Given the description of an element on the screen output the (x, y) to click on. 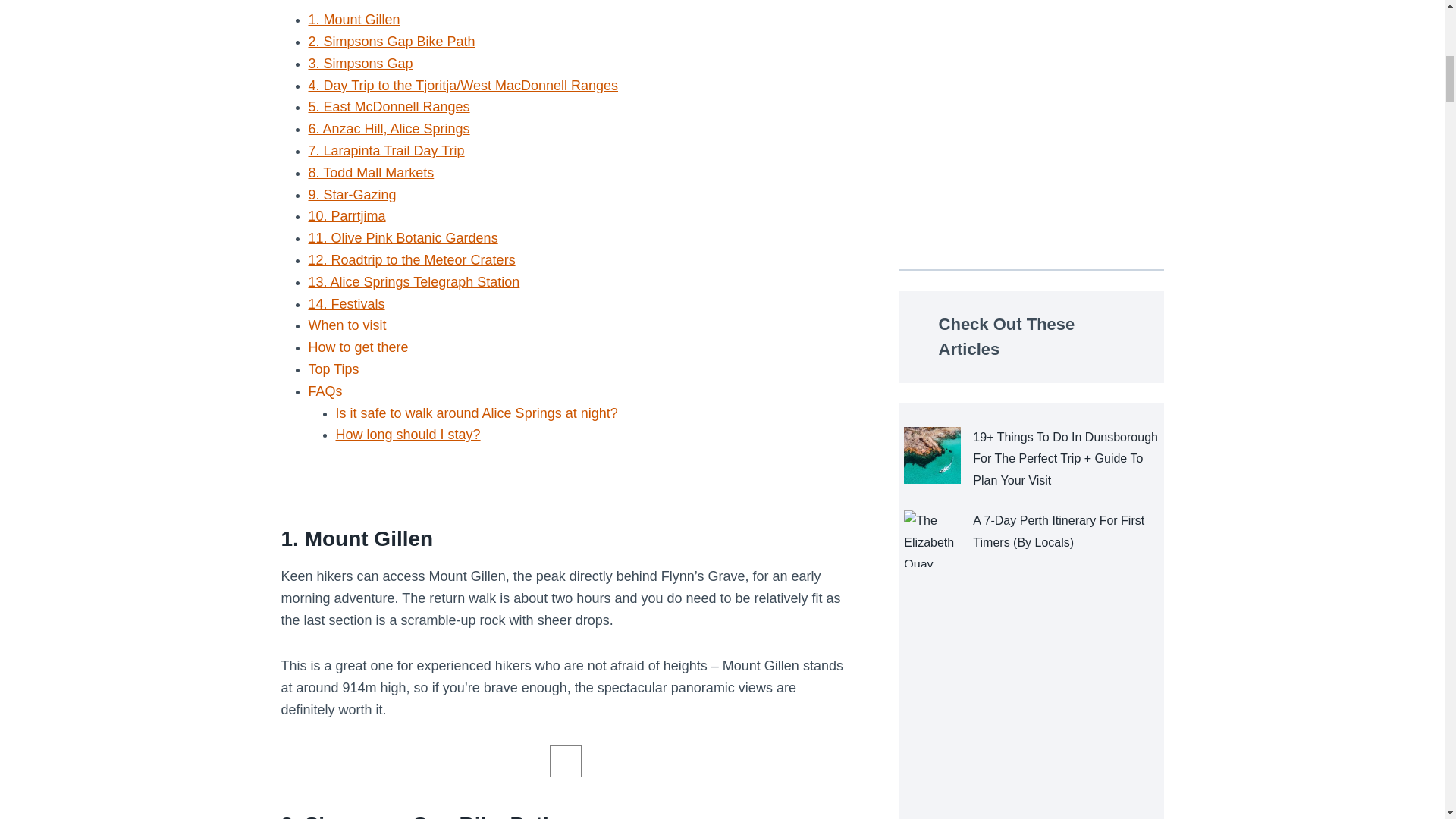
2. Simpsons Gap Bike Path (390, 41)
When to visit (346, 324)
3. Simpsons Gap (359, 63)
13. Alice Springs Telegraph Station (413, 281)
Top Tips (332, 368)
12. Roadtrip to the Meteor Craters (411, 259)
7. Larapinta Trail Day Trip (385, 150)
14. Festivals (345, 304)
10. Parrtjima (346, 215)
5. East McDonnell Ranges (387, 106)
